Given the description of an element on the screen output the (x, y) to click on. 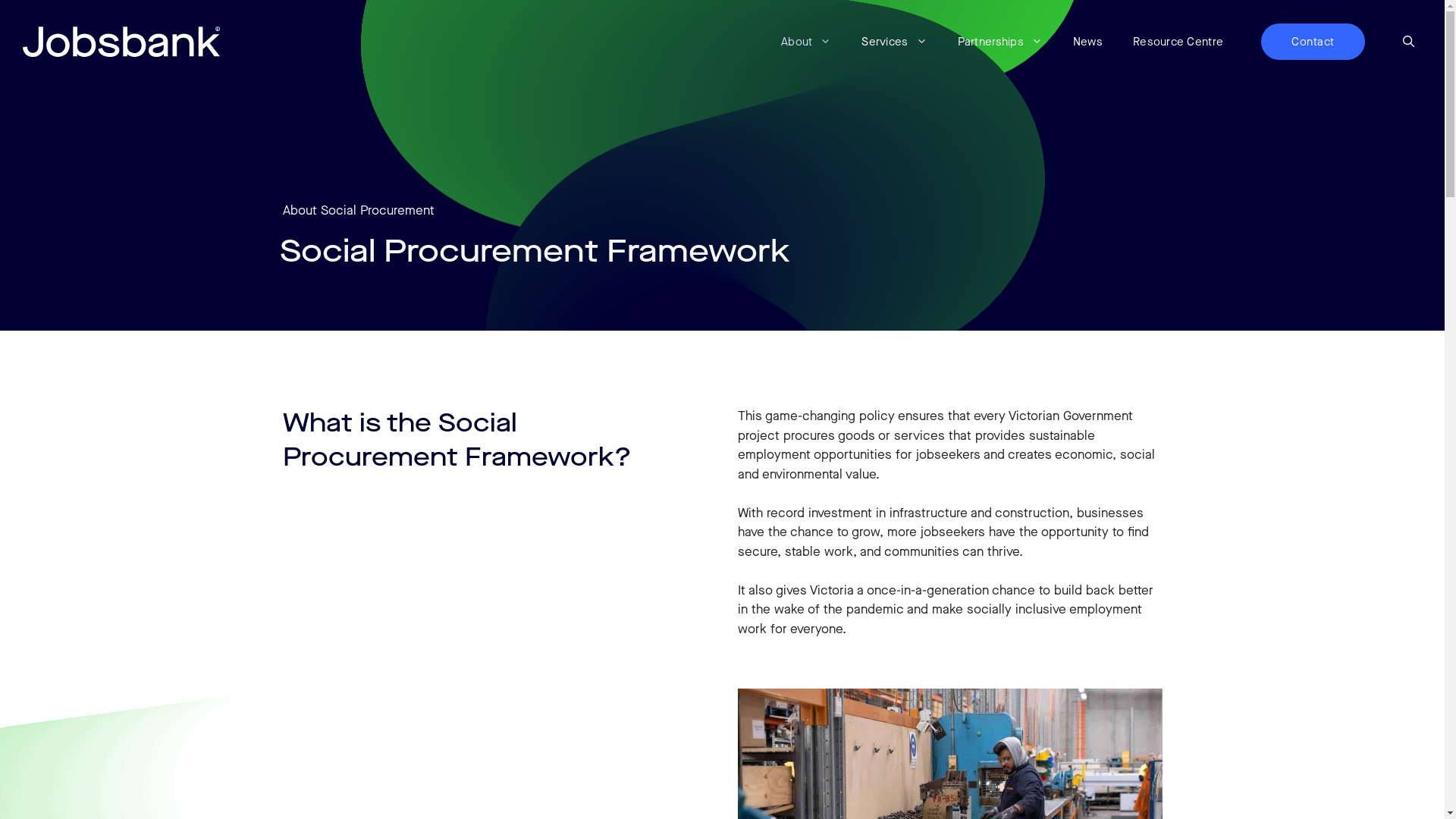
Services Element type: text (893, 41)
News Element type: text (1087, 41)
Jobsbank Element type: hover (120, 41)
Partnerships Element type: text (999, 41)
About Element type: text (805, 41)
Contact Element type: text (1312, 41)
Resource Centre Element type: text (1177, 41)
